Given the description of an element on the screen output the (x, y) to click on. 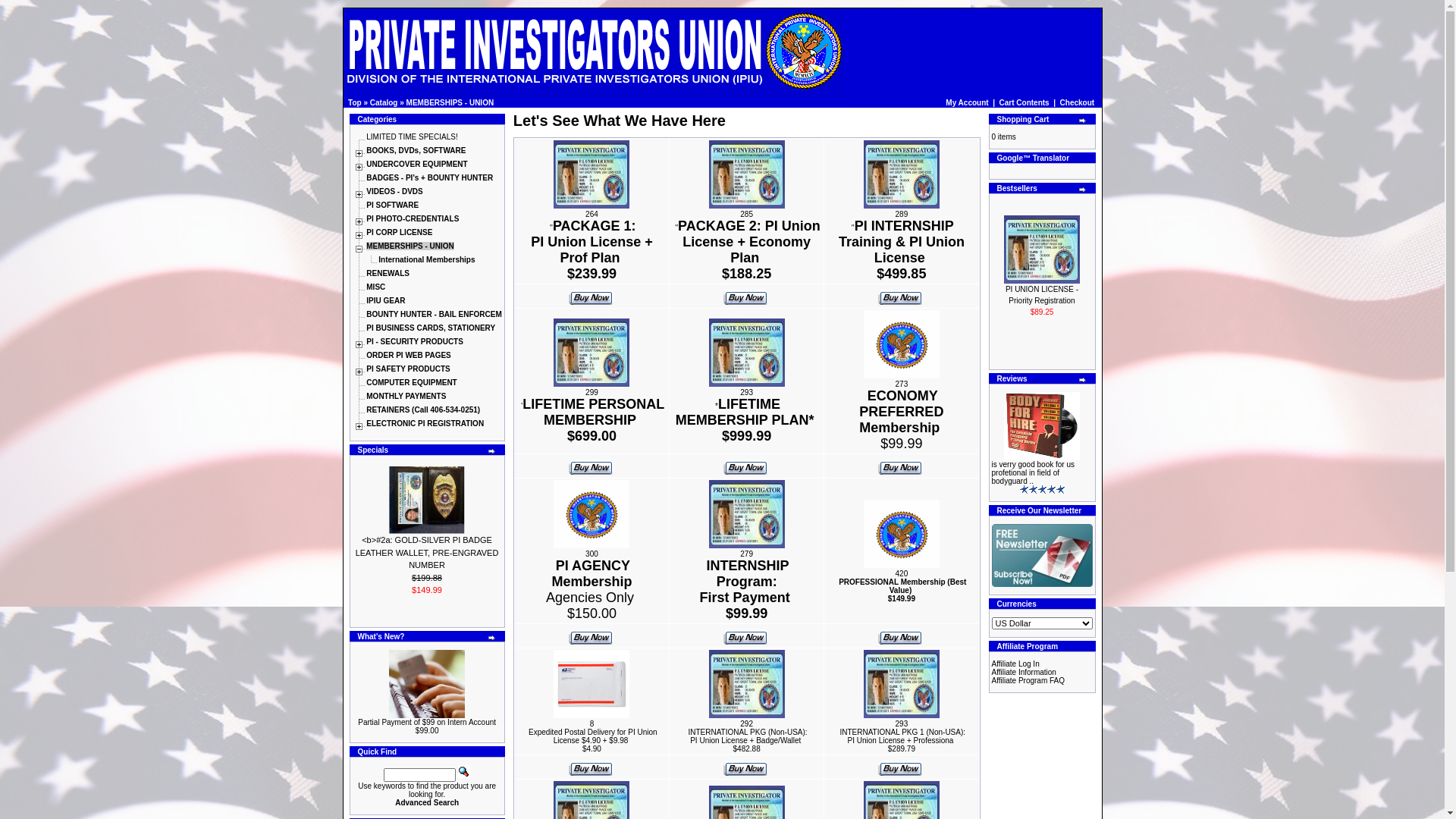
Affiliate Information Element type: text (1023, 672)
PI SAFETY PRODUCTS Element type: text (407, 368)
INTERNSHIP
Program:
First Payment Element type: text (744, 583)
''PACKAGE 1:
PI Union License + Prof Plan Element type: text (591, 243)
Catalog Element type: text (384, 102)
PI SOFTWARE Element type: text (392, 204)
PI BUSINESS CARDS, STATIONERY Element type: text (430, 327)
 PI UNION LICENSE - Priority Registration  Element type: hover (1041, 249)
 Buy Now  Element type: hover (590, 765)
 Buy Now  Element type: hover (745, 765)
UNDERCOVER EQUIPMENT Element type: text (416, 164)
ORDER PI WEB PAGES Element type: text (408, 355)
VIDEOS - DVDS Element type: text (394, 191)
My Account Element type: text (966, 102)
Expedited Postal Delivery for PI Union License $4.90 + $9.98 Element type: text (592, 736)
BADGES - PI's + BOUNTY HUNTER Element type: text (429, 177)
IPIU GEAR Element type: text (385, 300)
<b>PROFESSIONAL Membership (Best Value) Element type: text (1041, 266)
 Private Investigators  Element type: hover (592, 52)
 '<b><font size=+1>LIFETIME PERSONAL MEMBERSHIP  Element type: hover (591, 352)
LIMITED TIME SPECIALS! Element type: text (411, 136)
 Buy Now  Element type: hover (590, 294)
RENEWALS Element type: text (387, 273)
MISC Element type: text (375, 286)
 more  Element type: hover (491, 451)
 *<b><font size=+1>LIFETIME MEMBERSHIP PLAN*  Element type: hover (746, 352)
 Buy Now  Element type: hover (590, 464)
 more  Element type: hover (1082, 120)
PI CORP LICENSE Element type: text (399, 232)
*LIFETIME MEMBERSHIP PLAN* Element type: text (744, 413)
MEMBERSHIPS - UNION Element type: text (450, 102)
 <b>PROFESSIONAL Membership (Best Value)  Element type: hover (901, 532)
 <b><font size="+1">ECONOMY PREFERRED<br>Membership</b>  Element type: hover (901, 344)
MONTHLY PAYMENTS Element type: text (405, 396)
RETAINERS (Call 406-534-0251) Element type: text (423, 409)
 Bodyguard For Hire  Element type: hover (1041, 426)
 Buy Now  Element type: hover (899, 634)
MEMBERSHIPS - UNION Element type: text (410, 245)
ELECTRONIC PI REGISTRATION Element type: text (424, 423)
BOUNTY HUNTER - BAIL ENFORCEM Element type: text (434, 314)
ECONOMY PREFERRED
Membership Element type: text (901, 413)
 more  Element type: hover (1082, 189)
 Buy Now  Element type: hover (745, 464)
INTERNATIONAL PKG (Non-USA):
PI Union License + Badge/Wallet Element type: text (746, 736)
PI AGENCY
Membership
Agencies Only Element type: text (589, 583)
''PI INTERNSHIP Training & PI Union License Element type: text (901, 243)
Advanced Search Element type: text (426, 802)
PROFESSIONAL Membership (Best Value) Element type: text (902, 585)
BOOKS, DVDs, SOFTWARE Element type: text (415, 150)
 Buy Now  Element type: hover (745, 634)
Affiliate Program FAQ Element type: text (1028, 680)
 5 of 5 Stars!  Element type: hover (1041, 489)
COMPUTER EQUIPMENT Element type: text (411, 382)
 more  Element type: hover (491, 637)
'LIFETIME PERSONAL MEMBERSHIP Element type: text (592, 413)
Affiliate Log In Element type: text (1015, 663)
PI - SECURITY PRODUCTS Element type: text (414, 341)
 Quick Find  Element type: hover (464, 771)
''PACKAGE 2: PI Union License + Economy Plan Element type: text (747, 243)
 Partial Payment of $99 on Intern Account  Element type: hover (426, 683)
 Buy Now  Element type: hover (899, 765)
PI PHOTO-CREDENTIALS Element type: text (412, 218)
 Buy Now  Element type: hover (745, 294)
Partial Payment of $99 on Intern Account Element type: text (426, 722)
Cart Contents Element type: text (1024, 102)
Top Element type: text (354, 102)
 Buy Now  Element type: hover (590, 634)
International Memberships Element type: text (426, 259)
Checkout Element type: text (1077, 102)
 Buy Now  Element type: hover (899, 464)
 <b><font size=+1>INTERNSHIP<br>Program:<br>First Payment  Element type: hover (746, 514)
 Buy Now  Element type: hover (899, 294)
 more  Element type: hover (1082, 379)
